Given the description of an element on the screen output the (x, y) to click on. 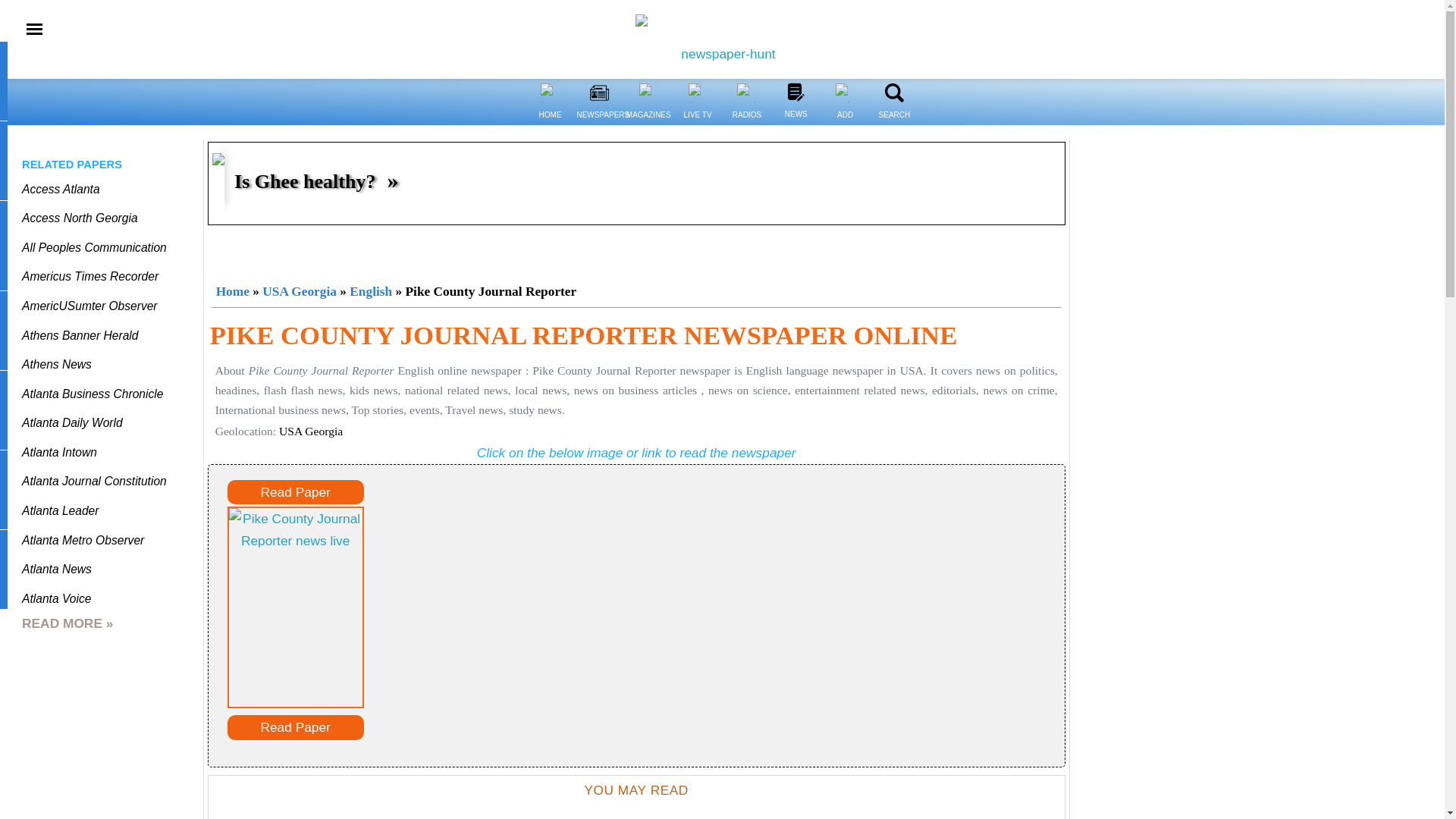
Access North Georgia (79, 217)
Atlanta Business Chronicle (92, 393)
Access Atlanta (60, 188)
Atlanta Leader (60, 510)
LIVE TV (697, 92)
Atlanta Journal Constitution (94, 481)
NEWS (795, 91)
All Peoples Communication (94, 246)
USA Georgia Newspapers (299, 291)
Athens News (56, 364)
